Given the description of an element on the screen output the (x, y) to click on. 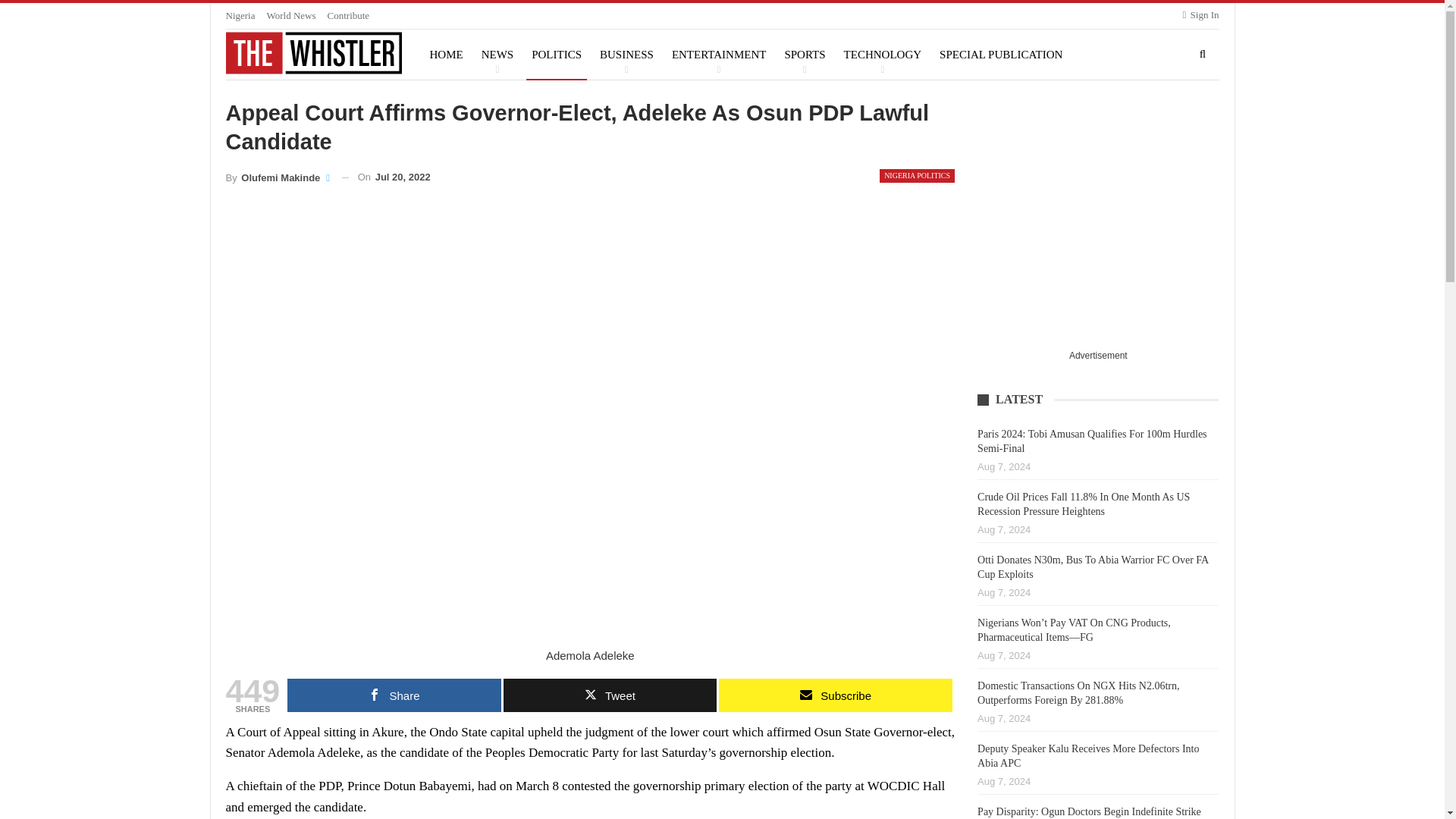
Contribute (348, 15)
Nigeria (240, 15)
POLITICS (555, 54)
World News (290, 15)
SPECIAL PUBLICATION (1000, 54)
BUSINESS (626, 54)
Sign In (1201, 14)
LIFESTYLE (607, 104)
SPORTS (803, 54)
Browse Author Articles (277, 177)
TECHNOLOGY (882, 54)
ENTERTAINMENT (718, 54)
